Given the description of an element on the screen output the (x, y) to click on. 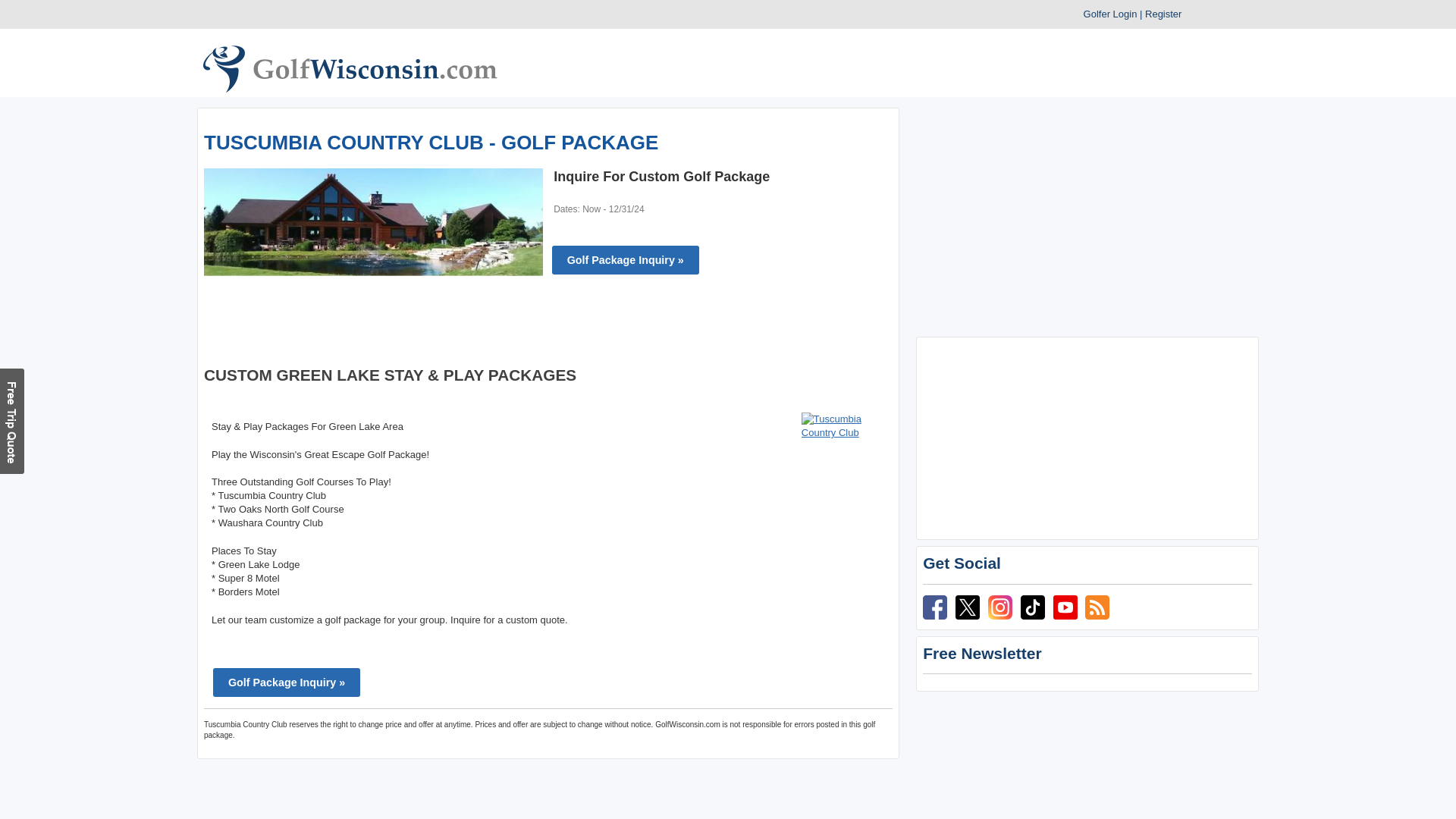
Register (1162, 13)
Golfer Login (1110, 13)
